Given the description of an element on the screen output the (x, y) to click on. 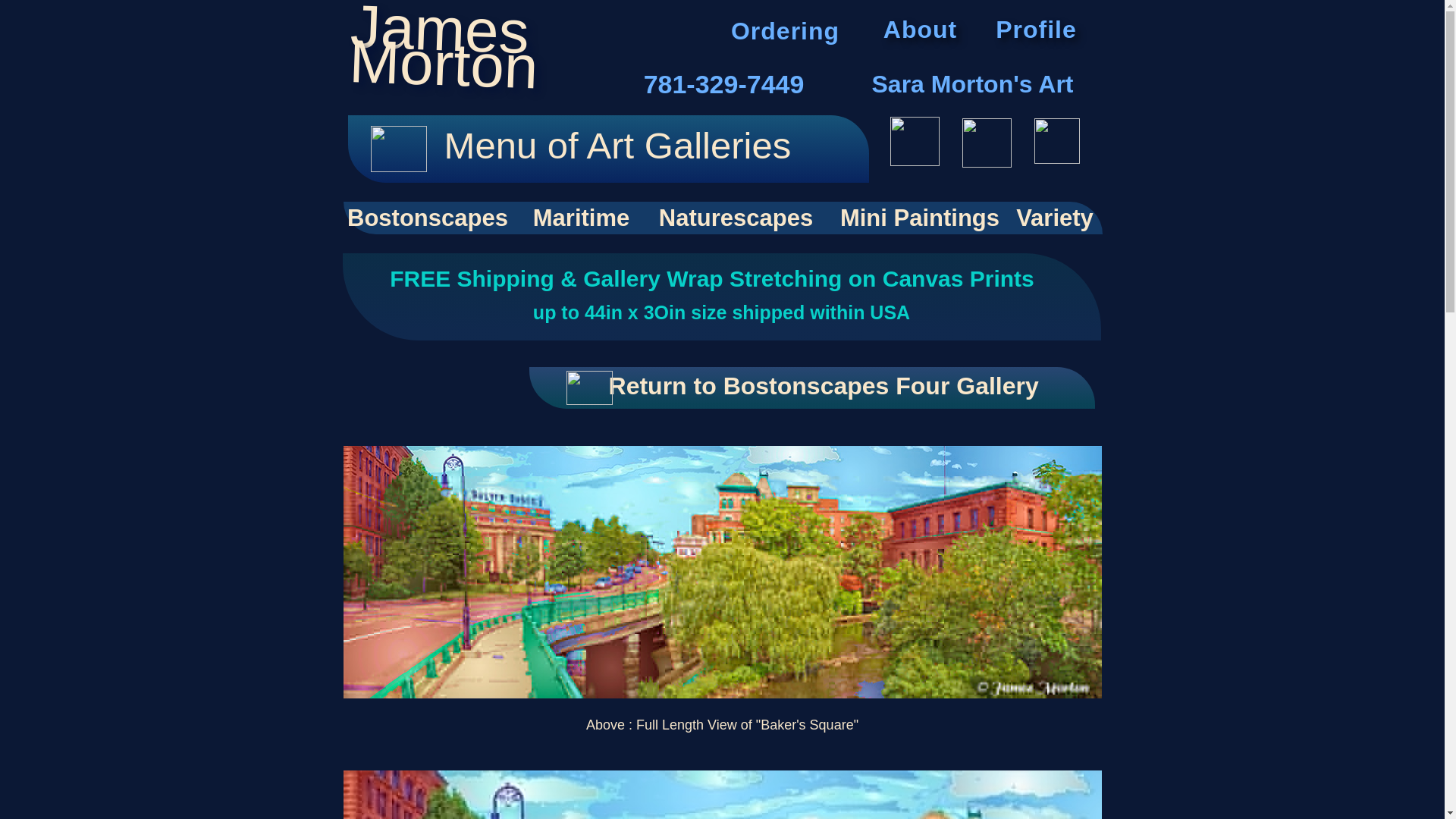
Sara Morton's Art (972, 84)
About (461, 55)
Ordering (921, 29)
Bostonscapes (785, 29)
Naturescapes (432, 217)
Variety (741, 217)
              Return to Bostonscapes Four Gallery (1054, 217)
Maritime (811, 387)
Profile (585, 217)
